Given the description of an element on the screen output the (x, y) to click on. 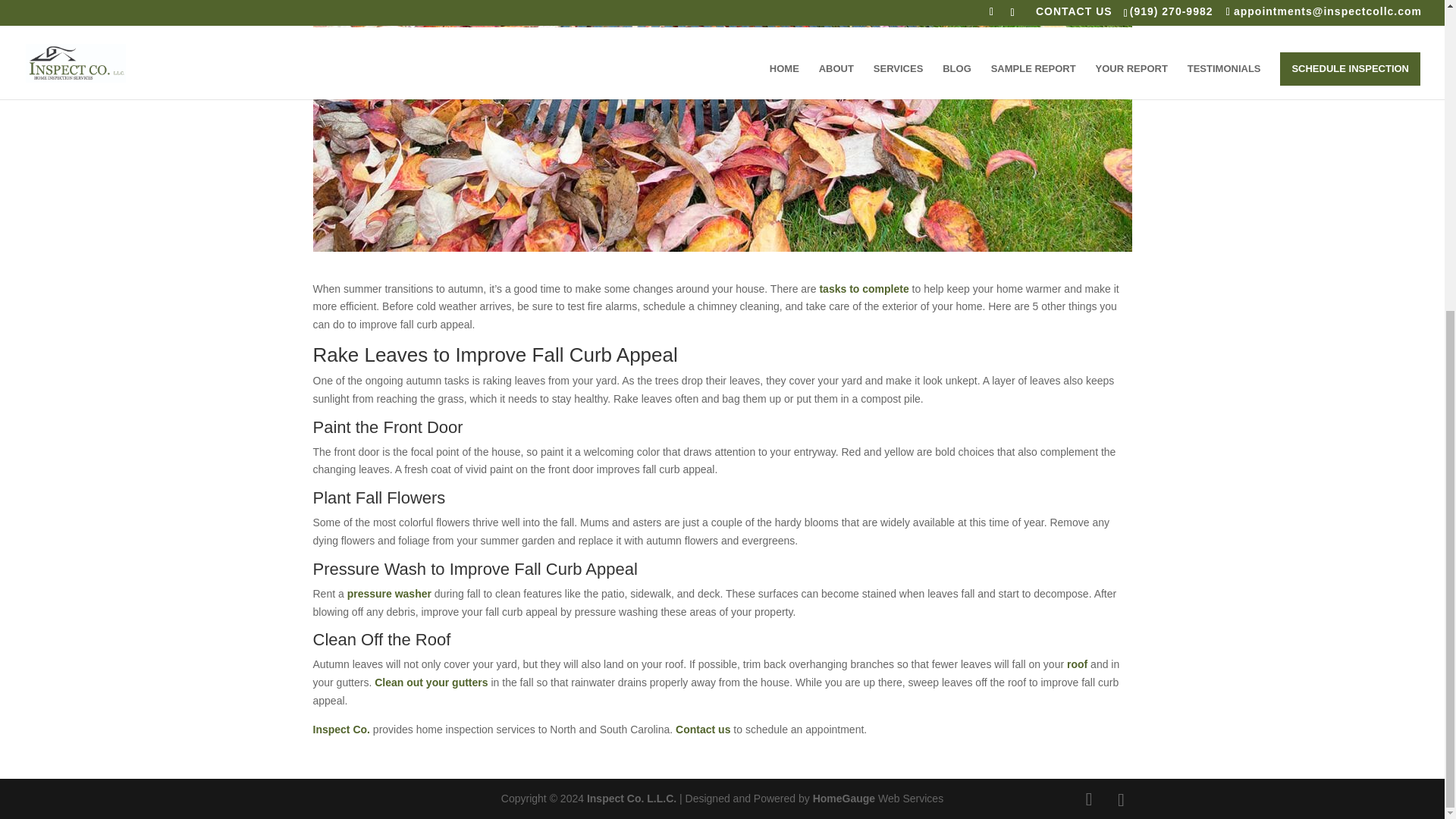
Inspect Co. (341, 729)
pressure washer (388, 593)
tasks to complete (863, 288)
Contact us (702, 729)
roof (1077, 664)
Clean out your gutters (430, 682)
Inspect Co. L.L.C. (631, 798)
HomeGauge (843, 798)
